Given the description of an element on the screen output the (x, y) to click on. 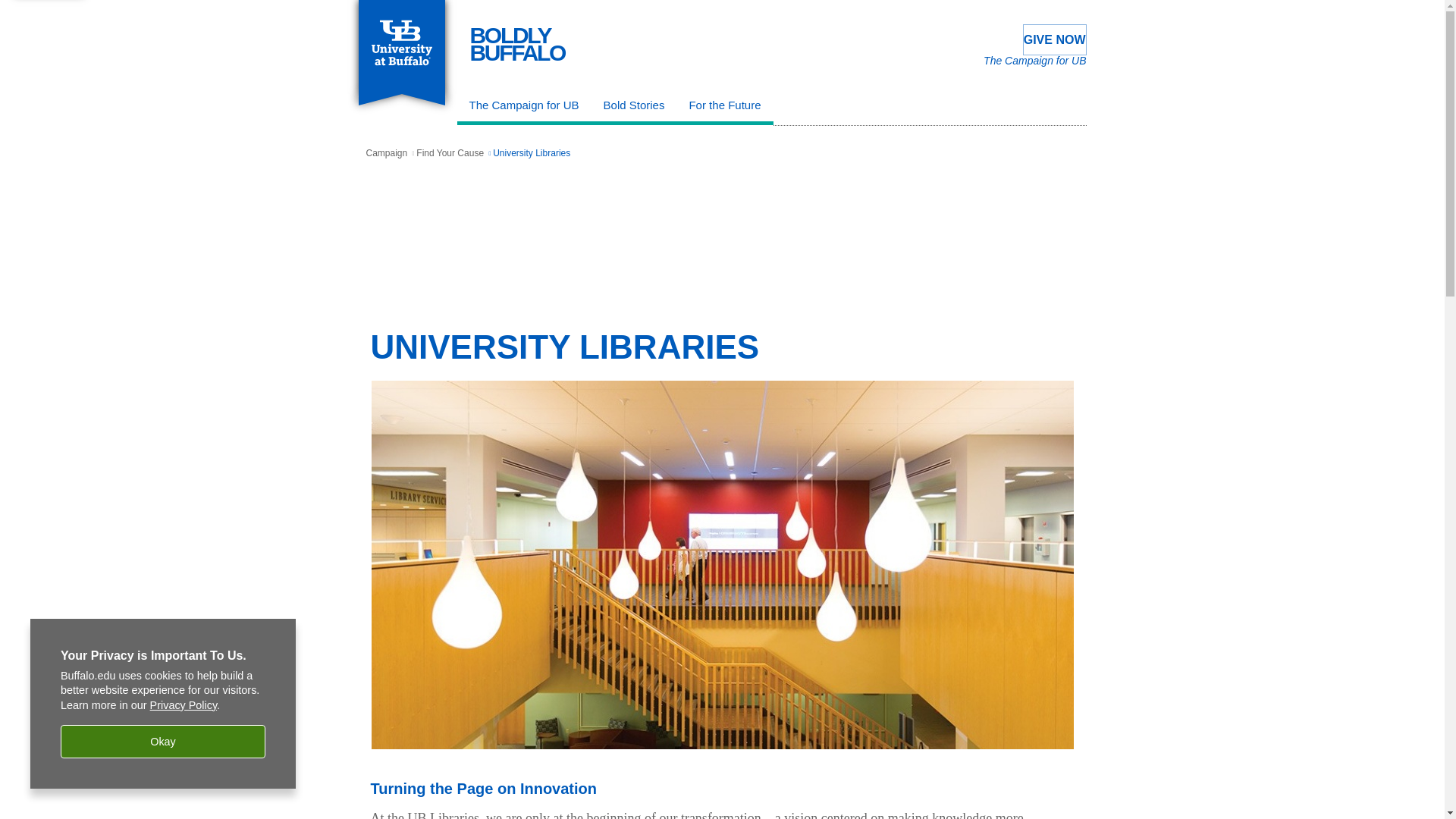
For the Future (518, 43)
Campaign (725, 107)
GIVE NOW (386, 153)
Find Your Cause (1054, 39)
The Campaign for UB (449, 153)
Bold Stories (524, 107)
